Given the description of an element on the screen output the (x, y) to click on. 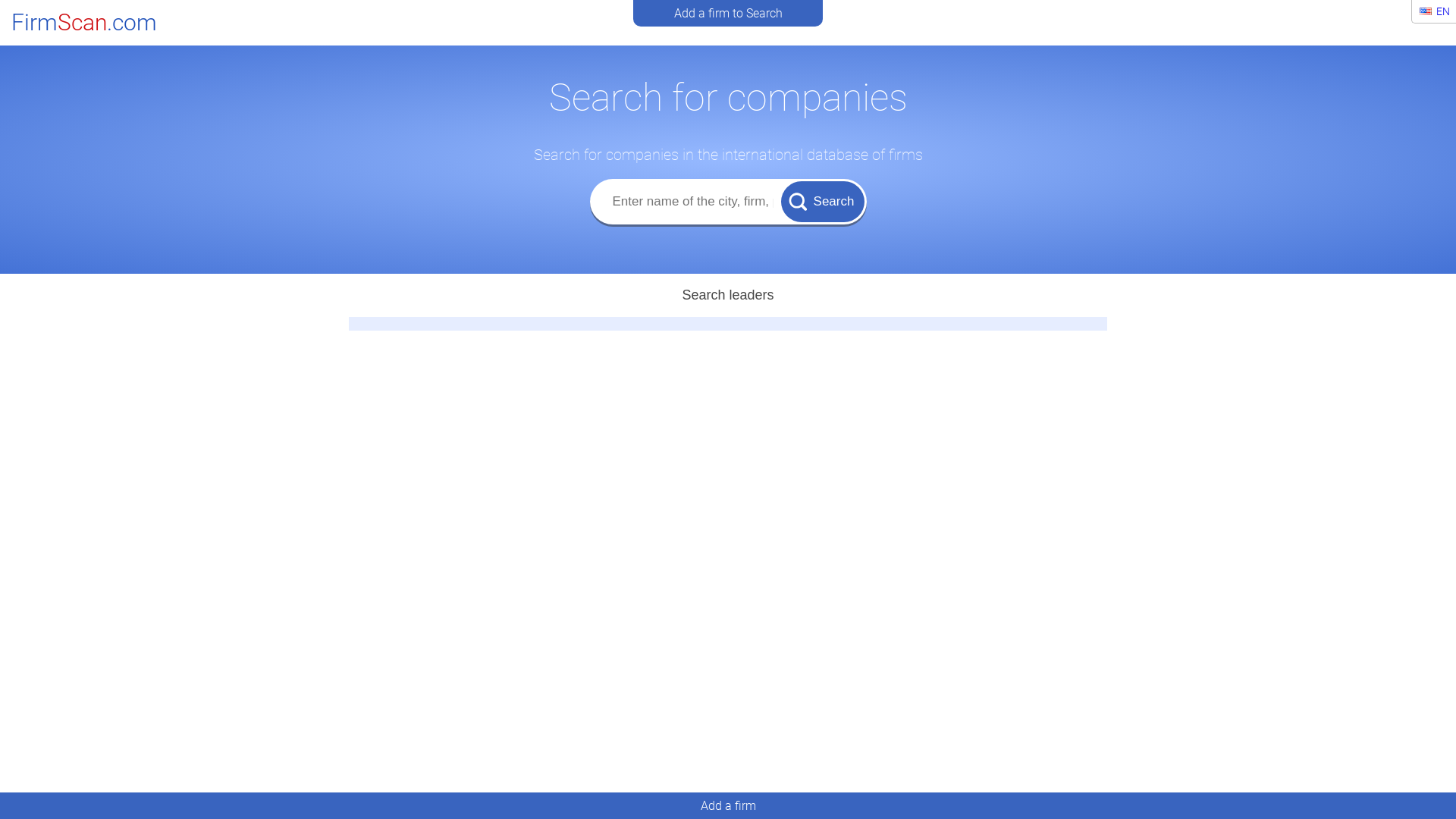
Search Element type: text (822, 200)
EN Element type: text (1434, 11)
